Given the description of an element on the screen output the (x, y) to click on. 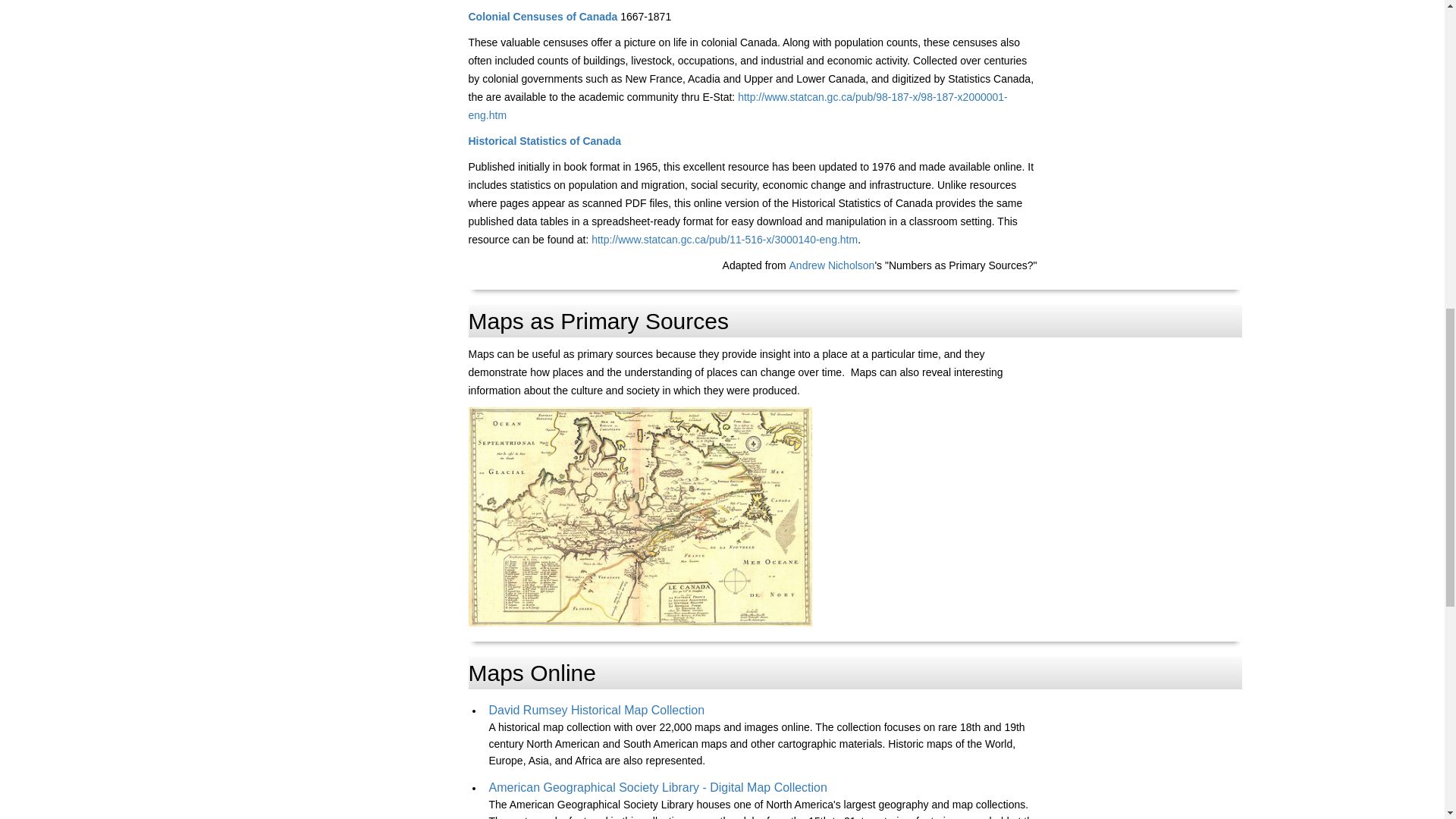
Historical Statistics of Canada (544, 141)
Andrew Nicholson (832, 265)
Colonial Censuses of Canada (542, 16)
